Given the description of an element on the screen output the (x, y) to click on. 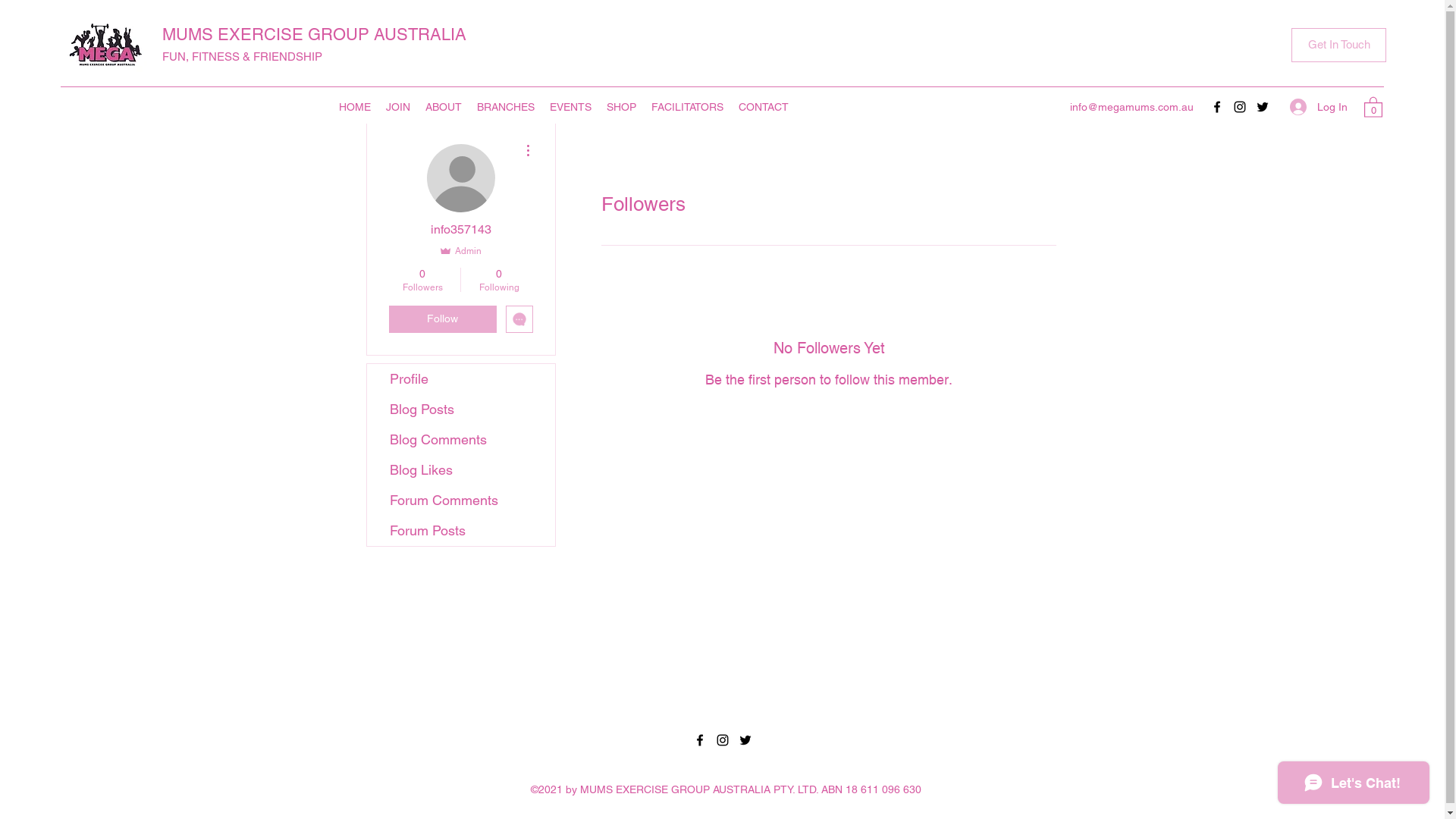
BRANCHES Element type: text (504, 106)
Blog Posts Element type: text (461, 409)
info@megamums.com.au Element type: text (1131, 106)
HOME Element type: text (353, 106)
SHOP Element type: text (621, 106)
Log In Element type: text (1318, 107)
Blog Likes Element type: text (461, 470)
ABOUT Element type: text (442, 106)
Blog Comments Element type: text (461, 439)
Profile Element type: text (461, 379)
Follow Element type: text (441, 318)
FACILITATORS Element type: text (686, 106)
CONTACT Element type: text (763, 106)
EVENTS Element type: text (569, 106)
0
Followers Element type: text (421, 279)
0 Element type: text (1373, 106)
Forum Posts Element type: text (461, 530)
0
Following Element type: text (499, 279)
Followers Element type: hover (827, 428)
Forum Comments Element type: text (461, 500)
JOIN Element type: text (397, 106)
